Given the description of an element on the screen output the (x, y) to click on. 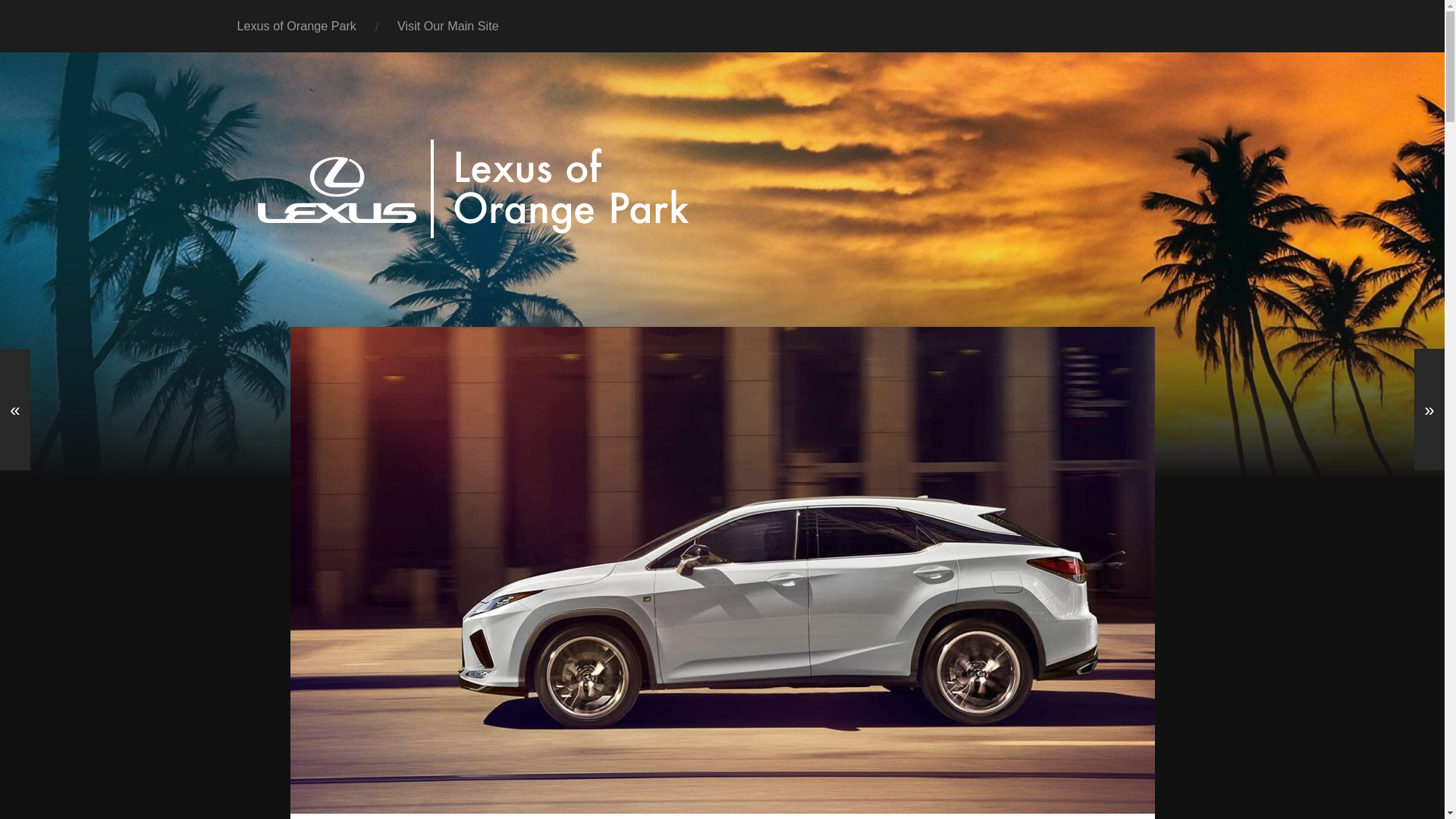
Lexus of Orange Park (296, 26)
Visit Our Main Site (448, 26)
